Given the description of an element on the screen output the (x, y) to click on. 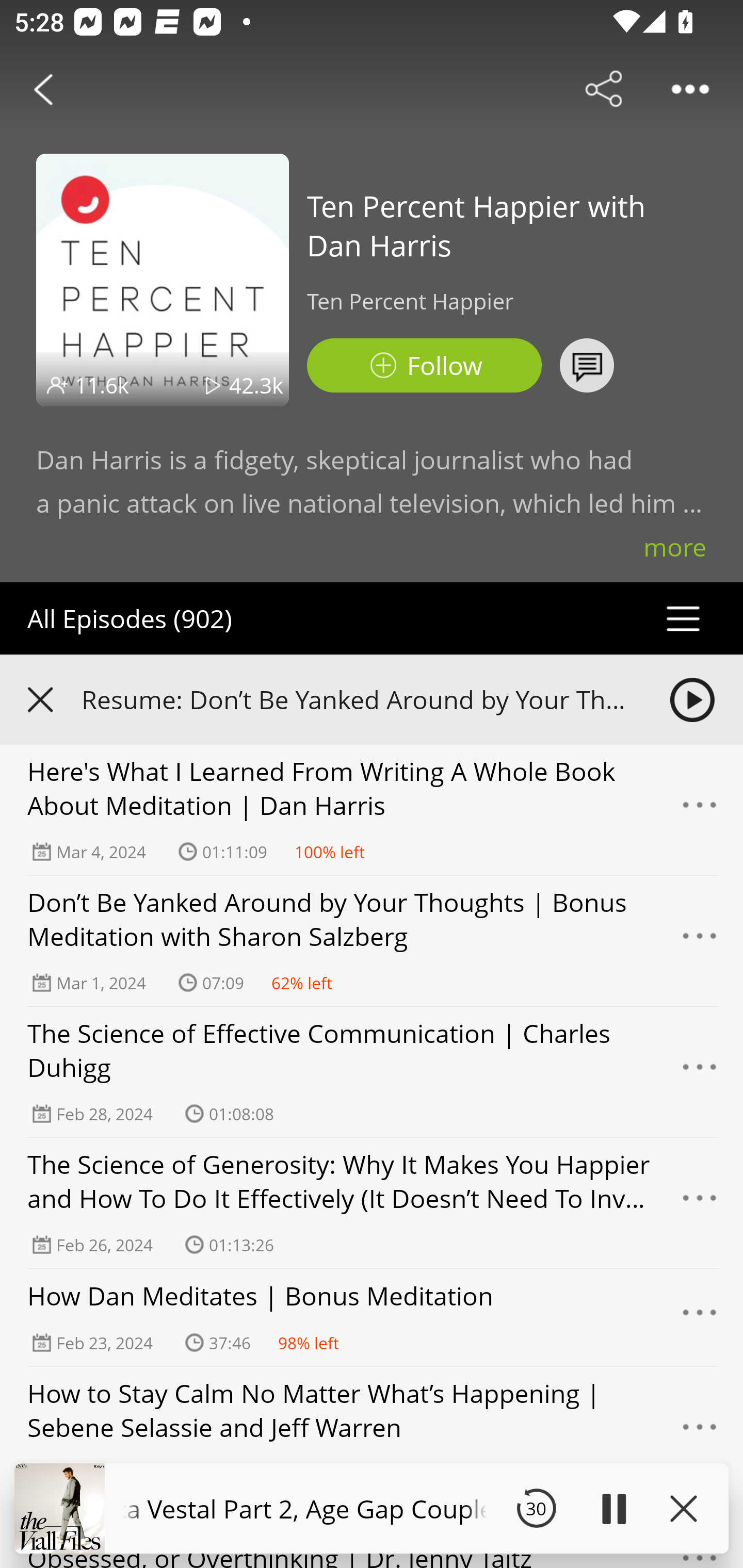
Back (43, 88)
Podbean Follow (423, 365)
11.6k (102, 384)
more (674, 546)
Menu (699, 809)
Menu (699, 941)
Menu (699, 1072)
Menu (699, 1203)
Menu (699, 1317)
Menu (699, 1432)
Play (613, 1507)
30 Seek Backward (536, 1508)
